Given the description of an element on the screen output the (x, y) to click on. 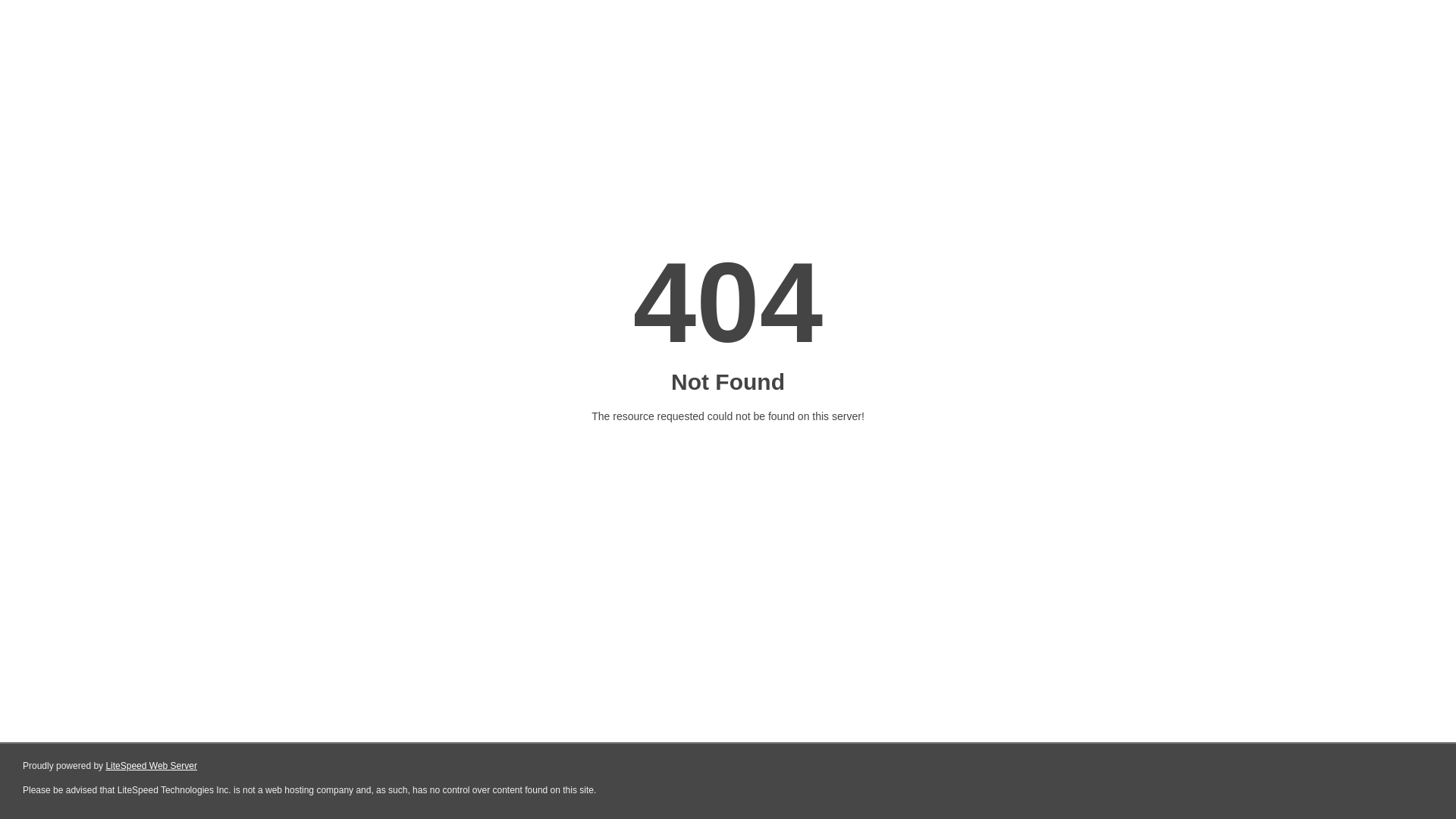
LiteSpeed Web Server Element type: text (151, 765)
